Given the description of an element on the screen output the (x, y) to click on. 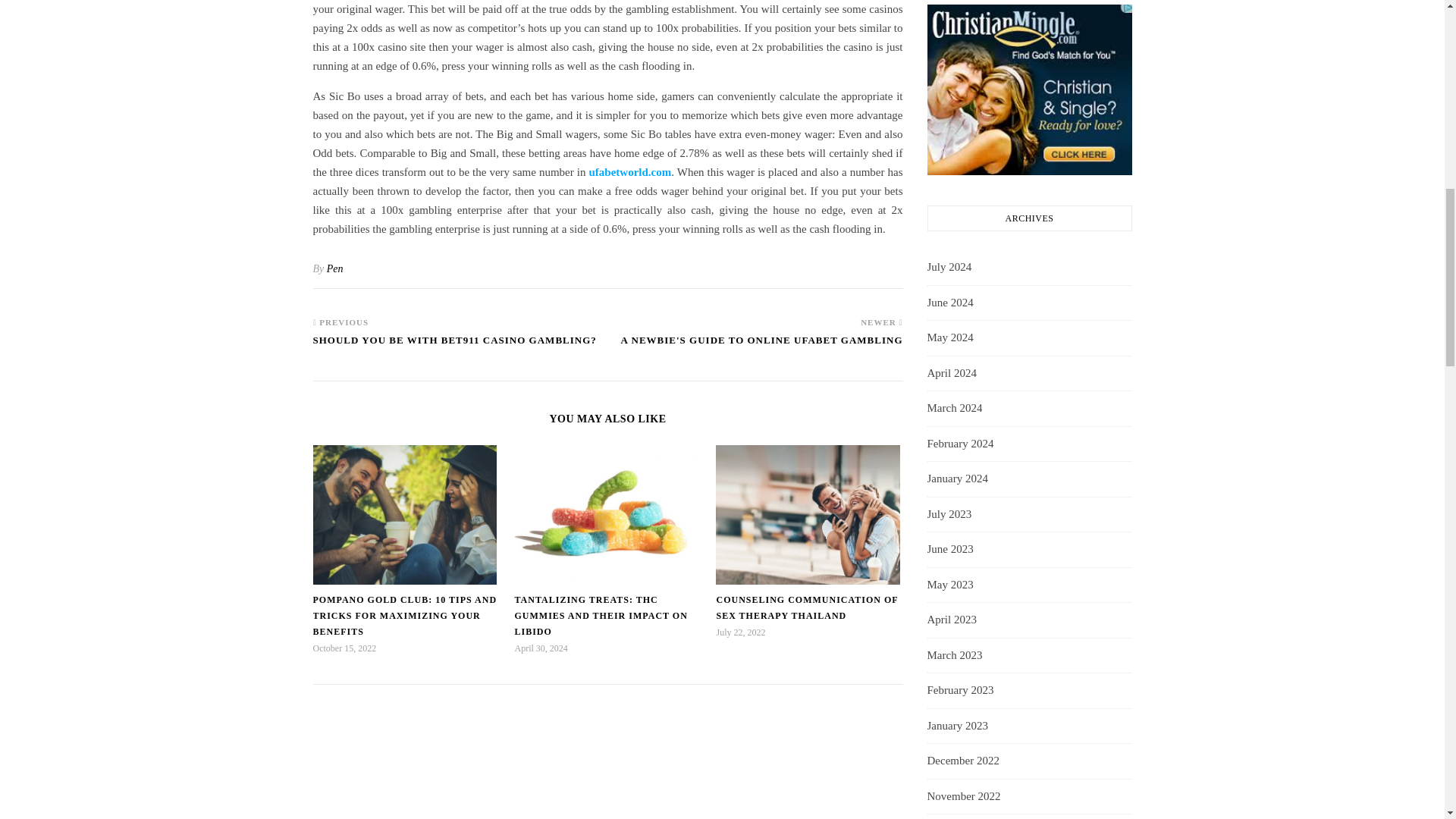
ufabetworld.com (629, 172)
SHOULD YOU BE WITH BET911 CASINO GAMBLING? (454, 347)
Pen (334, 268)
Should you be with Bet911 Casino Gambling? (454, 347)
A NEWBIE'S GUIDE TO ONLINE UFABET GAMBLING (761, 347)
July 2023 (948, 514)
A Newbie's Guide to Online UFABET Gambling (761, 347)
COUNSELING COMMUNICATION OF SEX THERAPY THAILAND (807, 607)
June 2024 (949, 303)
April 2024 (950, 373)
July 2024 (948, 267)
TANTALIZING TREATS: THC GUMMIES AND THEIR IMPACT ON LIBIDO (600, 615)
March 2024 (953, 408)
February 2024 (959, 444)
